Given the description of an element on the screen output the (x, y) to click on. 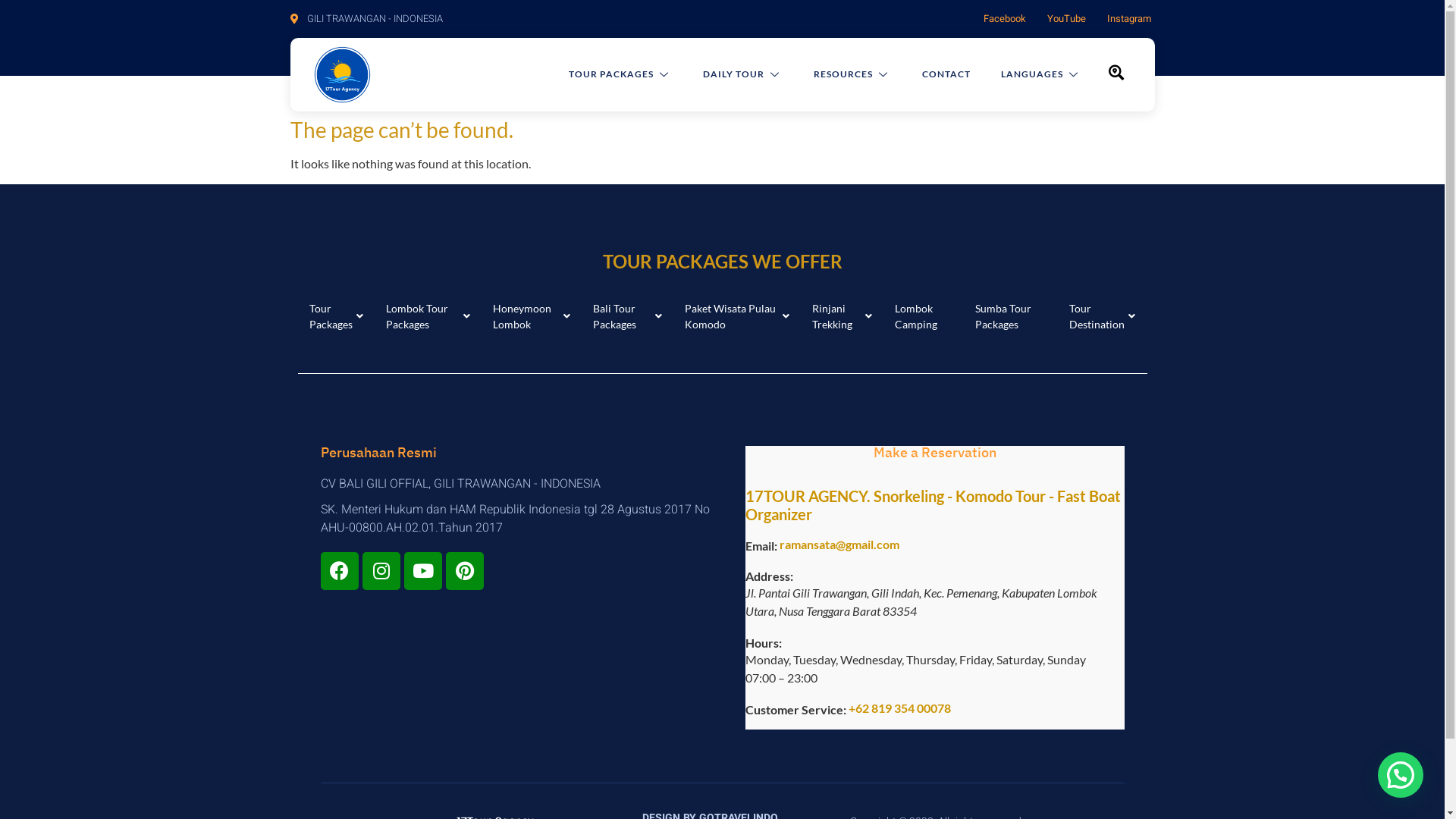
GILI TRAWANGAN - INDONESIA Element type: text (365, 18)
CV BALI GILI OFFIAL, GILI TRAWANGAN - INDONESIA Element type: text (520, 483)
Tour Packages Element type: text (335, 315)
Bali Tour Packages Element type: text (627, 315)
Lombok Camping Element type: text (923, 315)
Sumba Tour Packages Element type: text (1010, 315)
Instagram Element type: text (1129, 18)
TOUR PACKAGES Element type: text (605, 73)
ramansata@gmail.com Element type: text (839, 543)
YouTube Element type: text (1065, 18)
Facebook Element type: text (1003, 18)
+62 819 354 00078 Element type: text (898, 707)
RESOURCES Element type: text (837, 73)
CONTACT Element type: text (930, 73)
Honeymoon Lombok Element type: text (531, 315)
DAILY TOUR Element type: text (727, 73)
Lombok Tour Packages Element type: text (427, 315)
Rinjani Trekking Element type: text (841, 315)
Tour Destination Element type: text (1101, 315)
Paket Wisata Pulau Komodo Element type: text (736, 315)
LANGUAGES Element type: text (1026, 73)
